Given the description of an element on the screen output the (x, y) to click on. 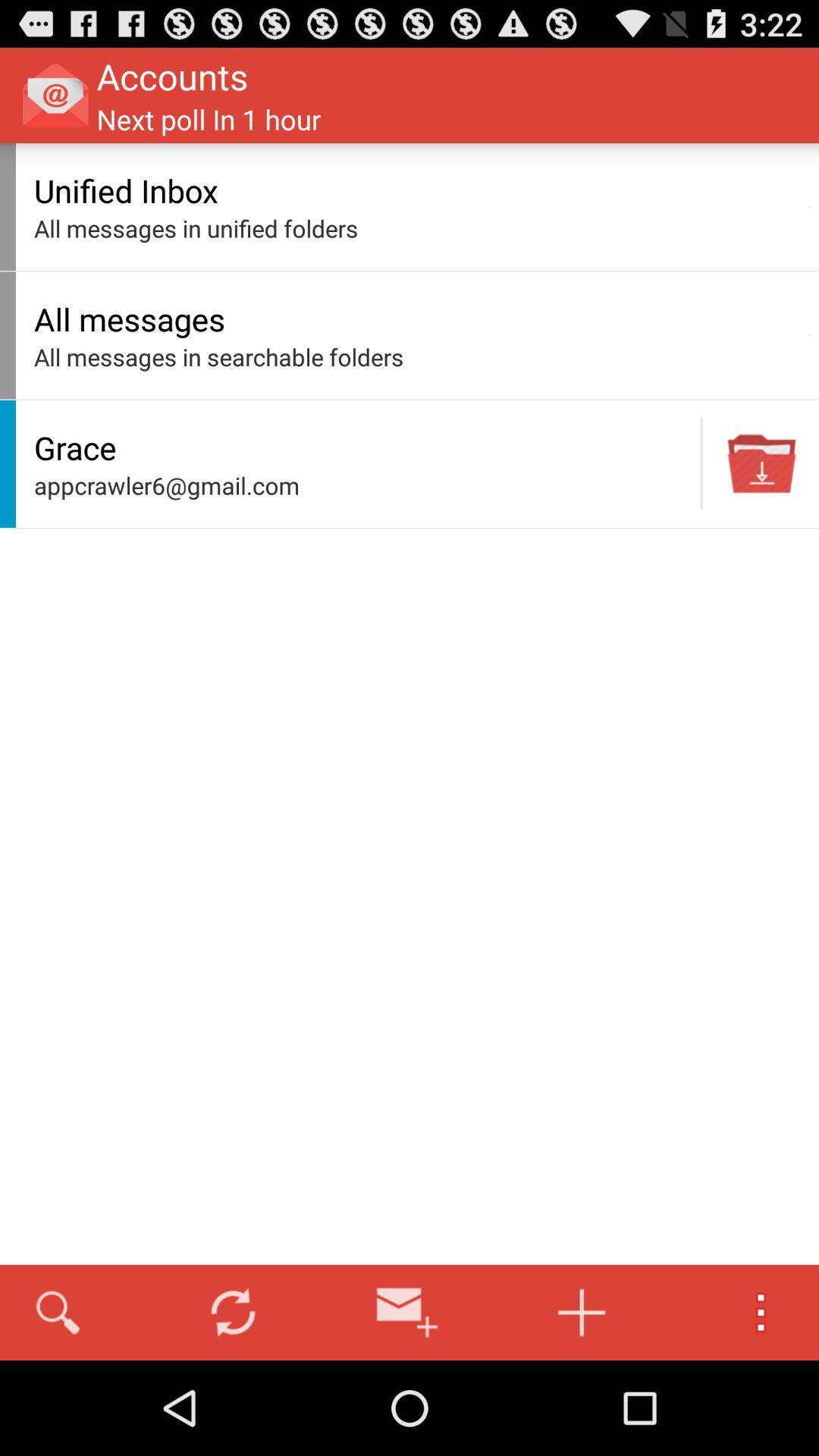
press app above the all messages in icon (809, 335)
